Given the description of an element on the screen output the (x, y) to click on. 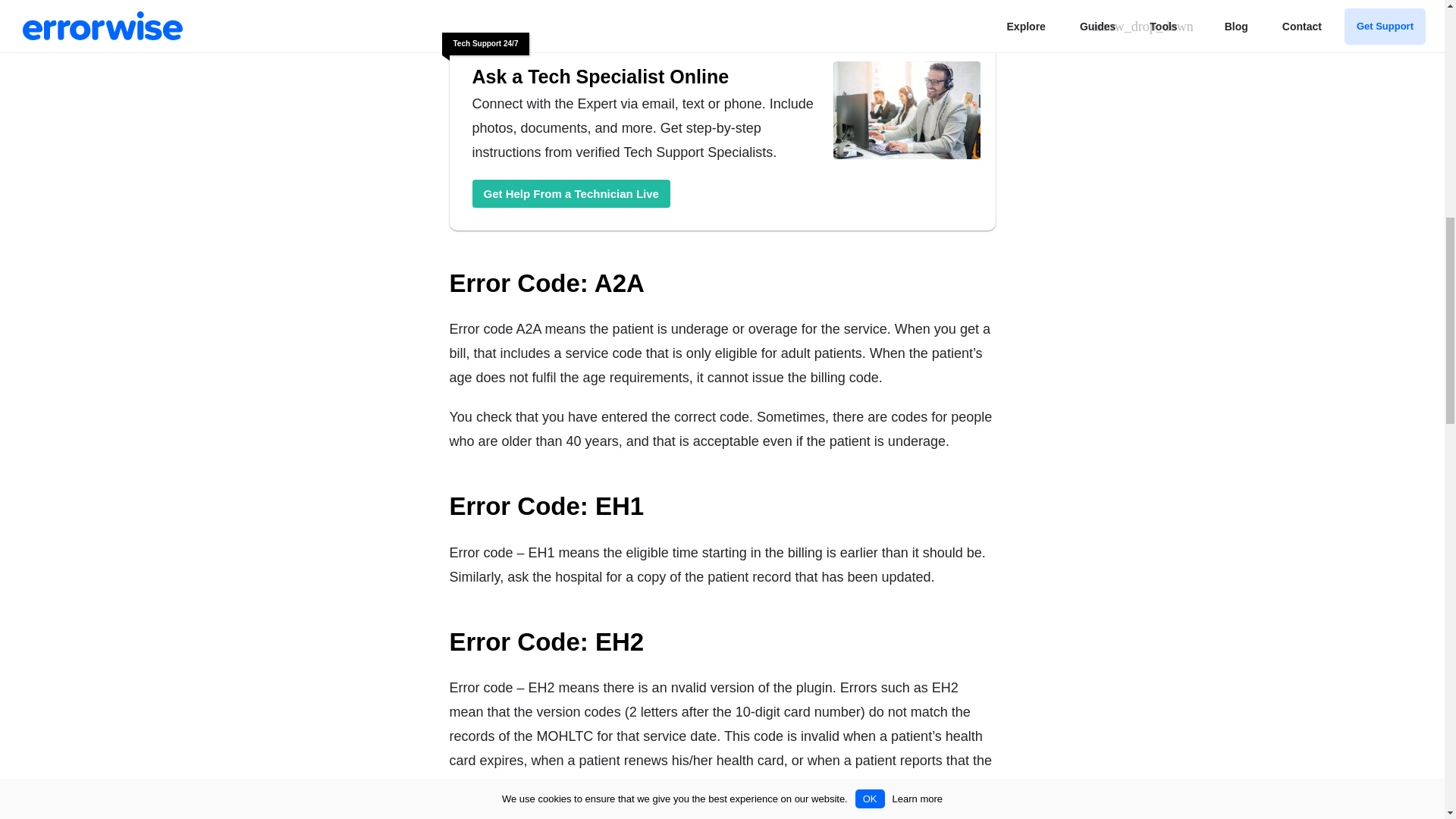
Ask a Tech Specialist Online (570, 193)
Ask a Tech Specialist Online (643, 76)
Ask a Tech Specialist Online (643, 76)
Ask a Tech Specialist Online (905, 112)
Get Help From a Technician Live (570, 193)
